Given the description of an element on the screen output the (x, y) to click on. 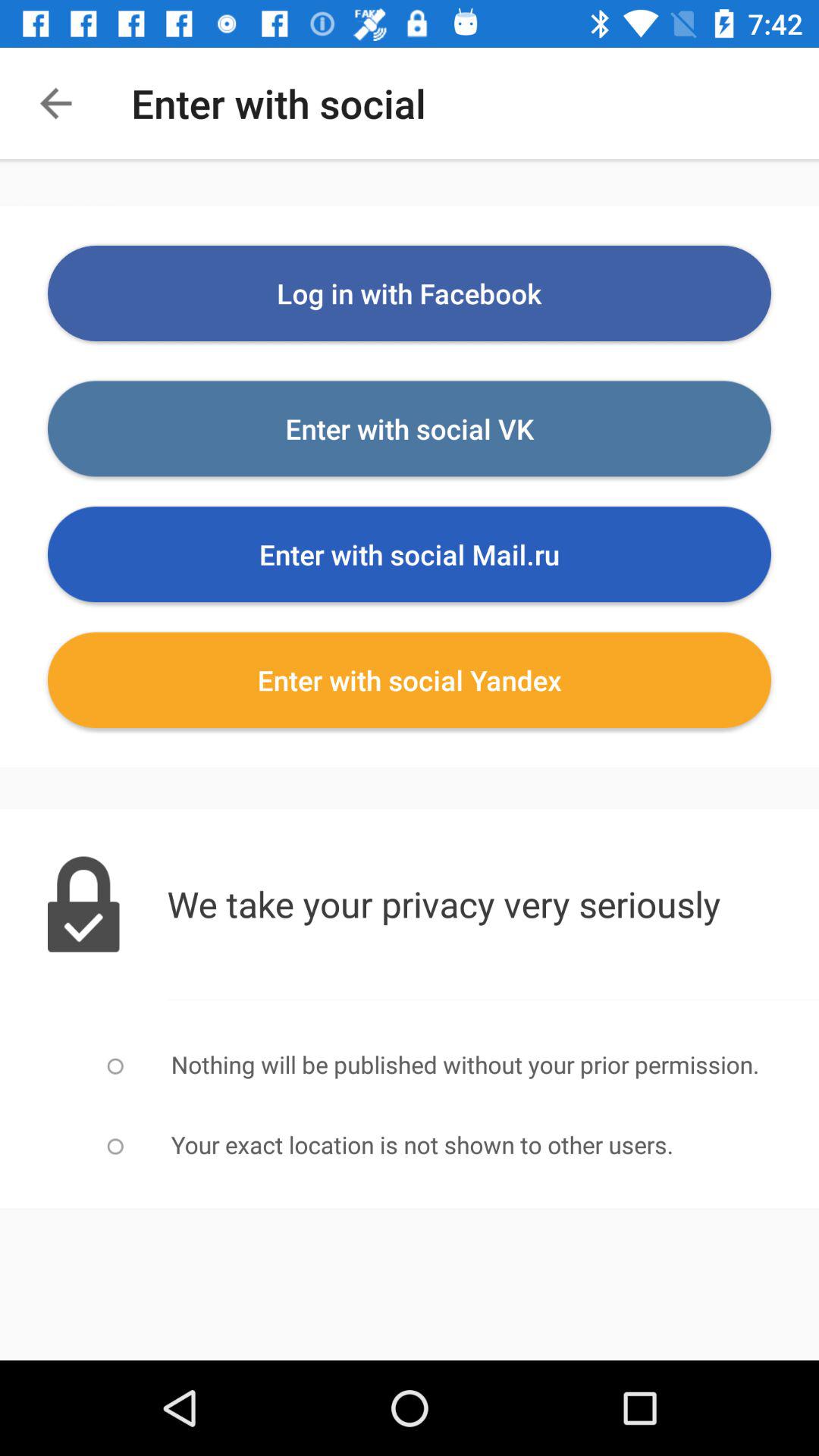
turn off item next to the enter with social item (55, 103)
